Given the description of an element on the screen output the (x, y) to click on. 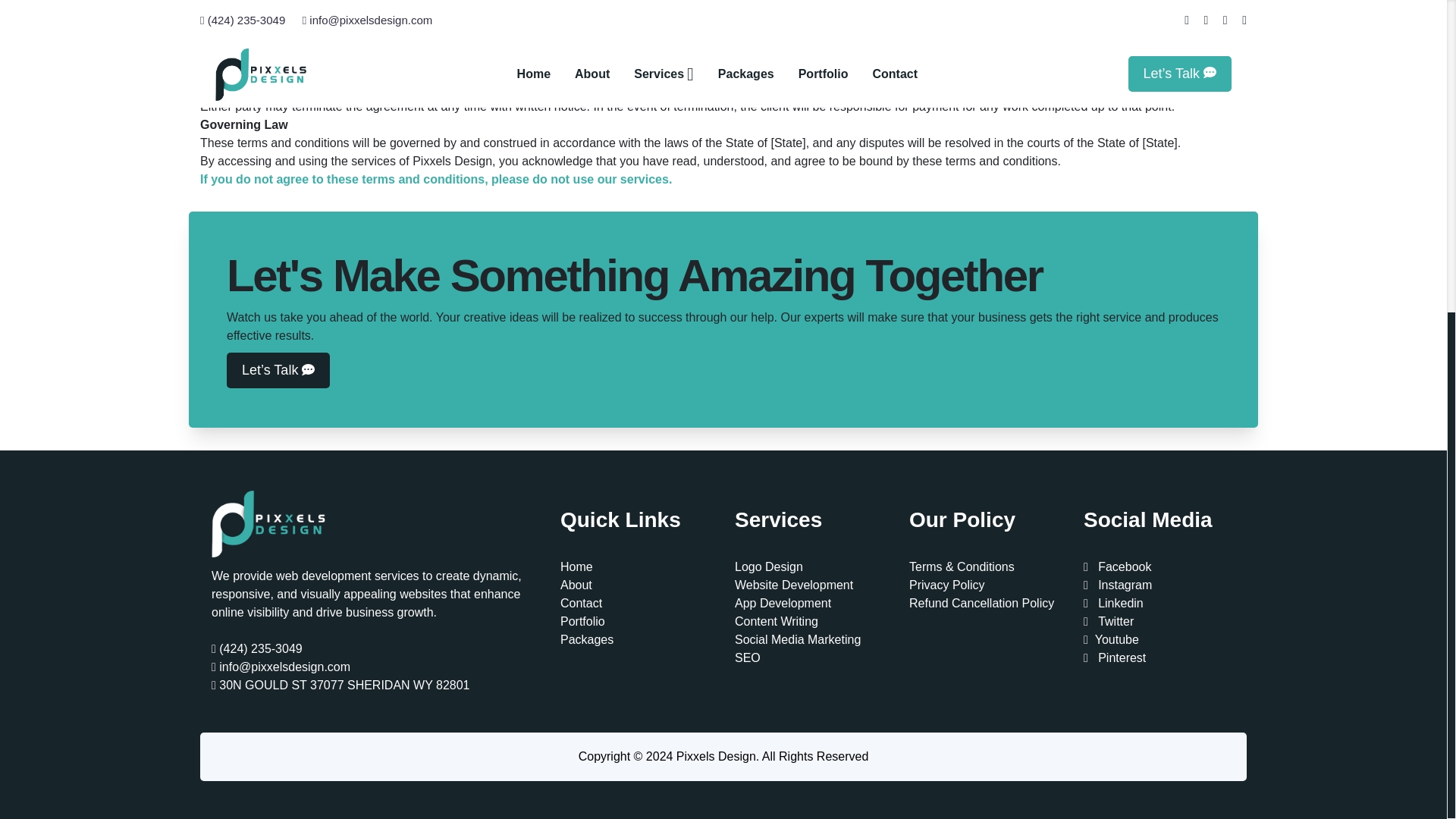
Packages (586, 639)
  Linkedin (1112, 603)
Privacy Policy (946, 584)
Website Development (794, 584)
Contact (581, 603)
  Instagram (1117, 584)
Content Writing (776, 621)
Home (576, 566)
About (576, 584)
Logo Design (769, 566)
